Given the description of an element on the screen output the (x, y) to click on. 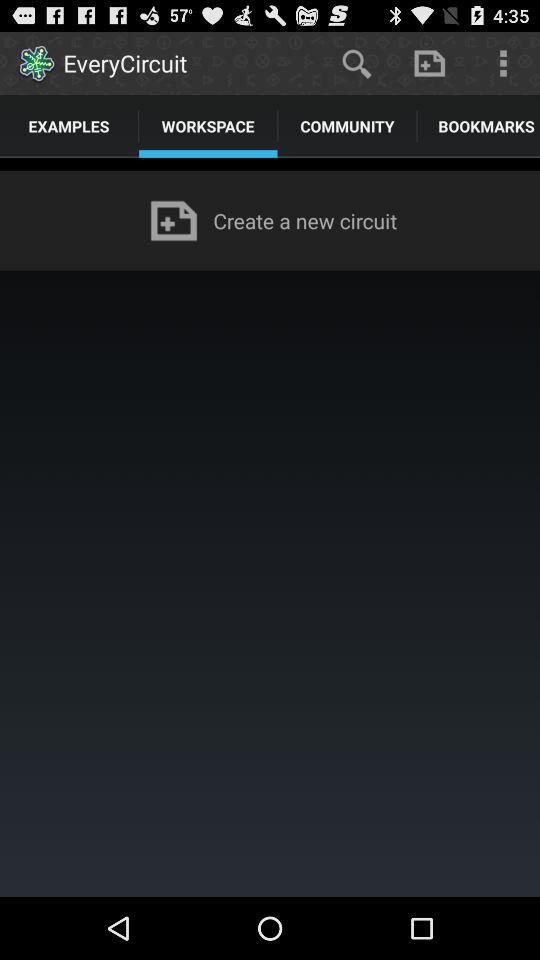
select the icon to the left of create a new (173, 220)
